Given the description of an element on the screen output the (x, y) to click on. 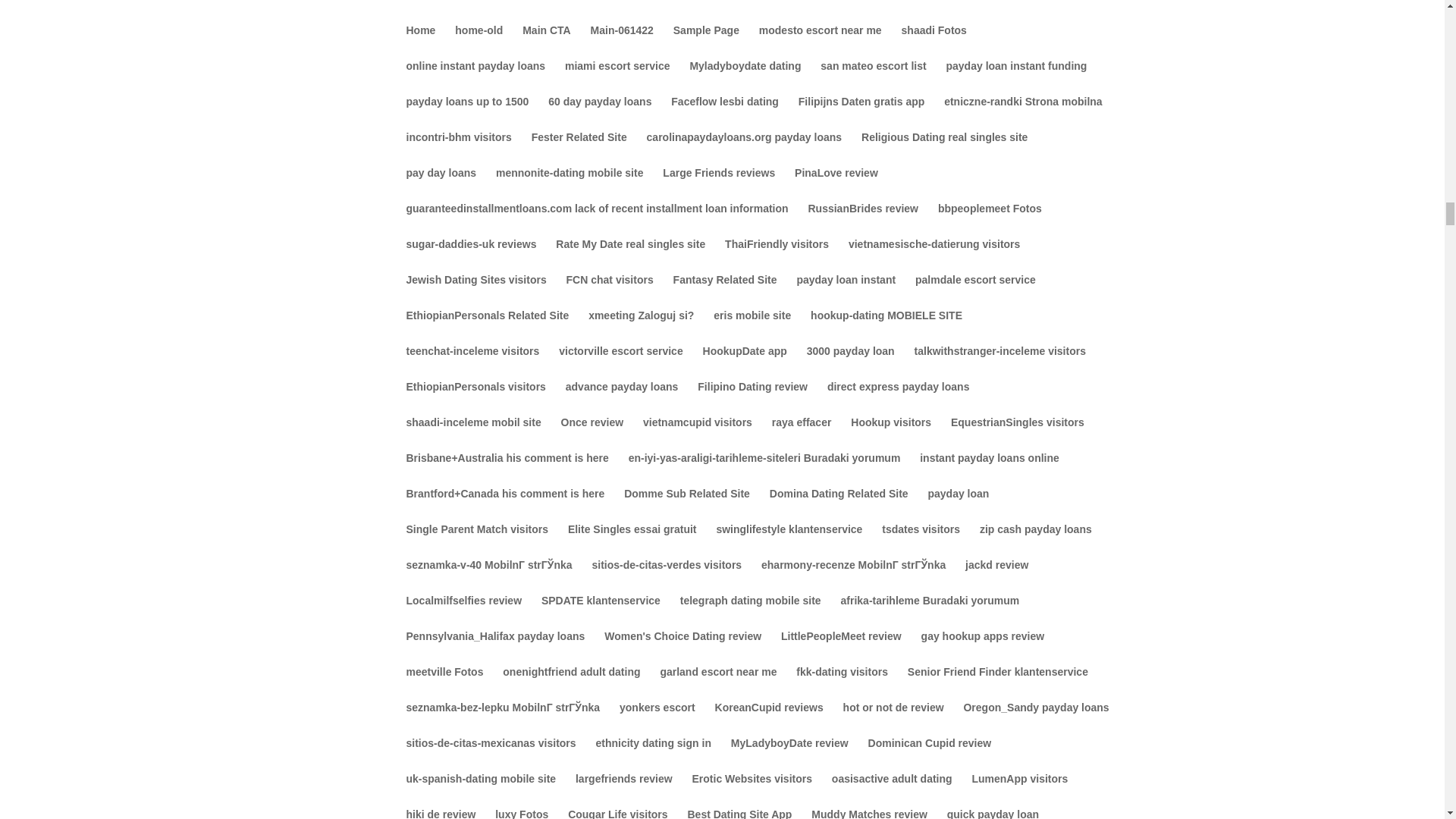
yes (319, 411)
Submit Comment (803, 460)
